Given the description of an element on the screen output the (x, y) to click on. 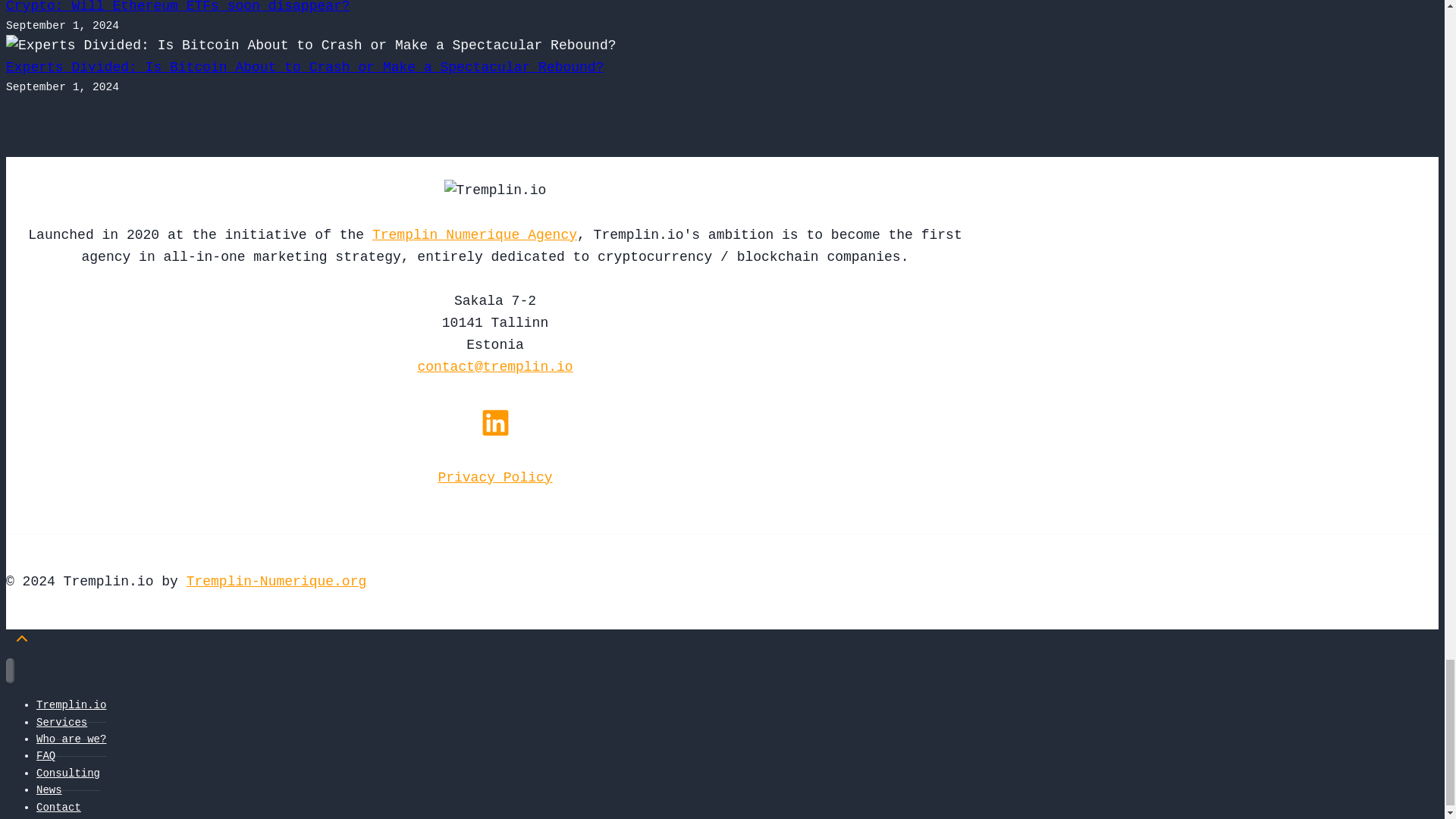
Tremplin Numerique Agency (474, 234)
Scroll to top (21, 643)
Crypto: Will Ethereum ETFs soon disappear? (177, 6)
Privacy Policy (494, 477)
Scroll to top (21, 638)
Linkedin (494, 422)
Tremplin-Numerique.org (276, 581)
